Given the description of an element on the screen output the (x, y) to click on. 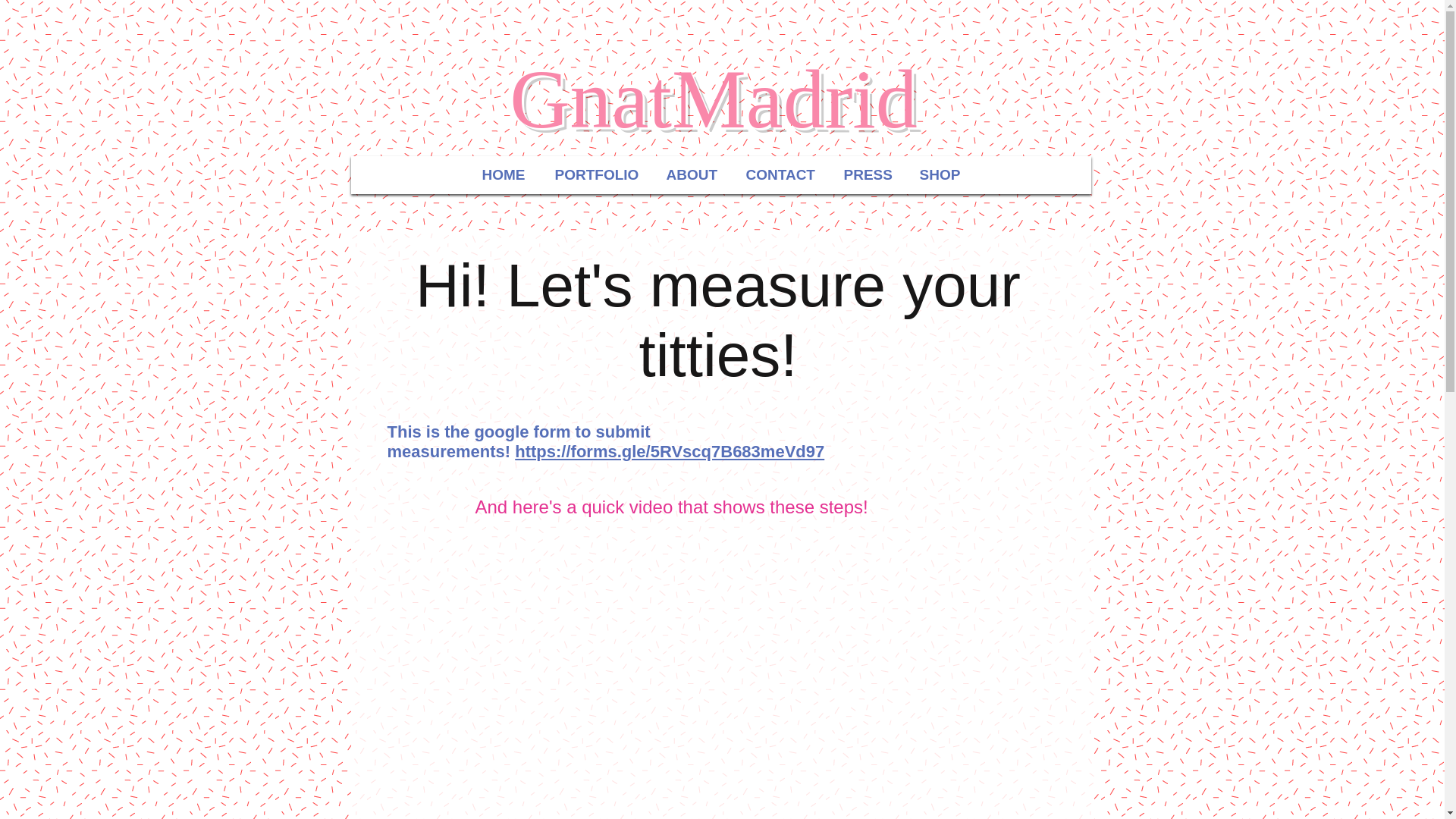
CONTACT (779, 174)
GnatMadrid (713, 97)
PRESS (866, 174)
HOME (503, 174)
SHOP (939, 174)
PORTFOLIO (595, 174)
